Given the description of an element on the screen output the (x, y) to click on. 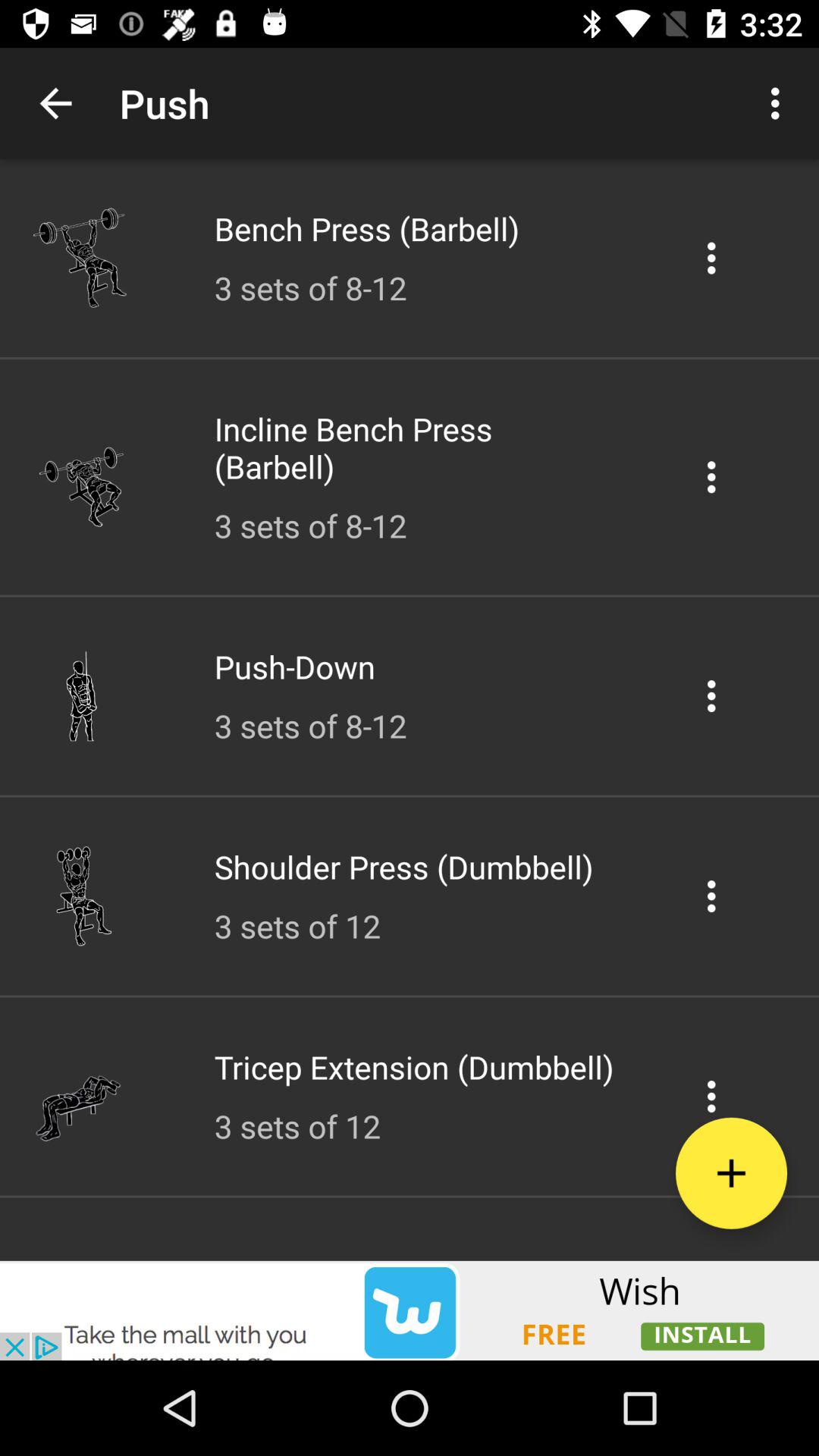
expand exercise details (711, 1096)
